Given the description of an element on the screen output the (x, y) to click on. 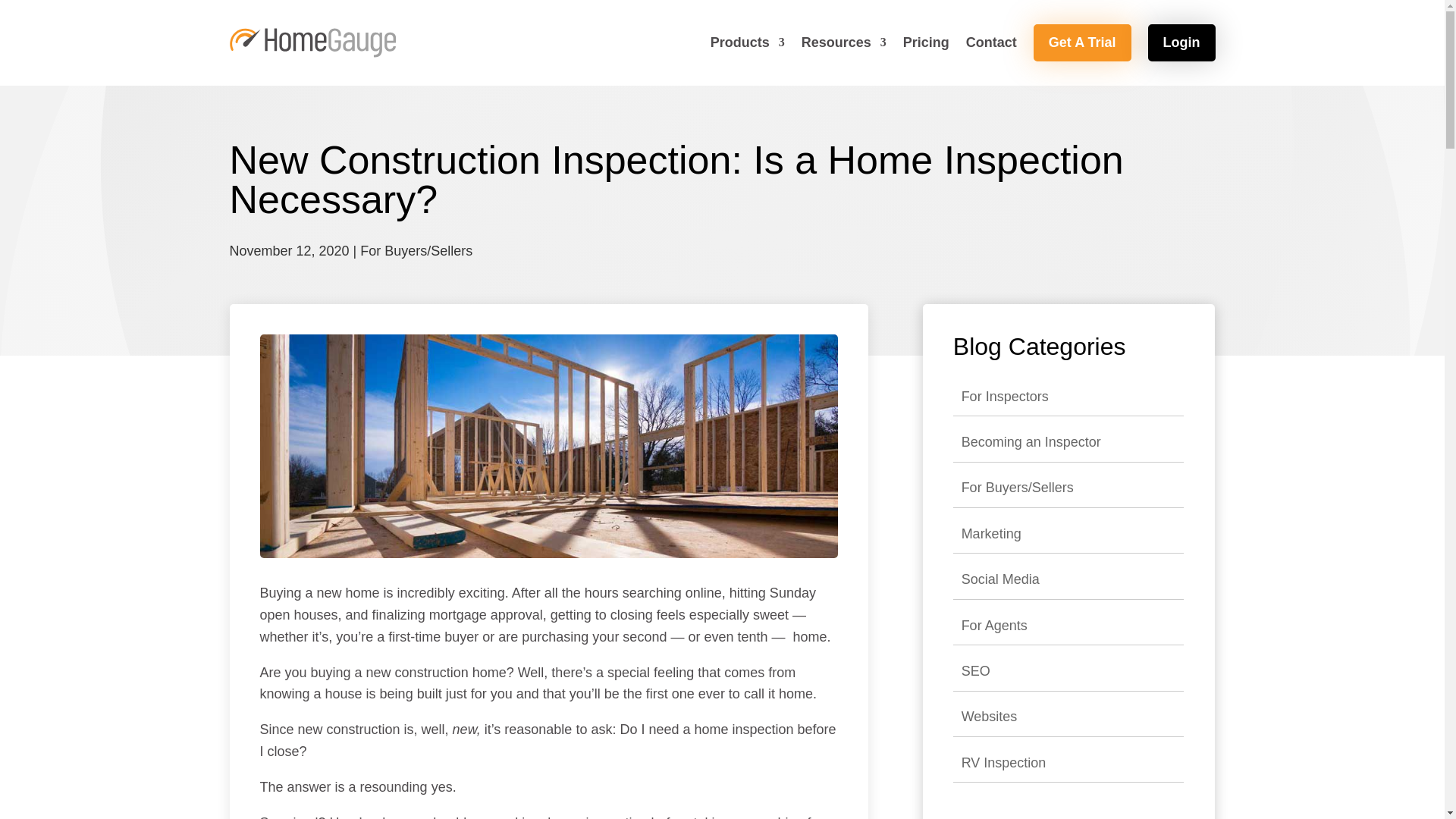
New-Construction-1 (548, 445)
Resources (844, 42)
Pricing (925, 42)
Products (747, 42)
Get A Trial (1082, 42)
Login (1181, 42)
Contact (991, 42)
